Given the description of an element on the screen output the (x, y) to click on. 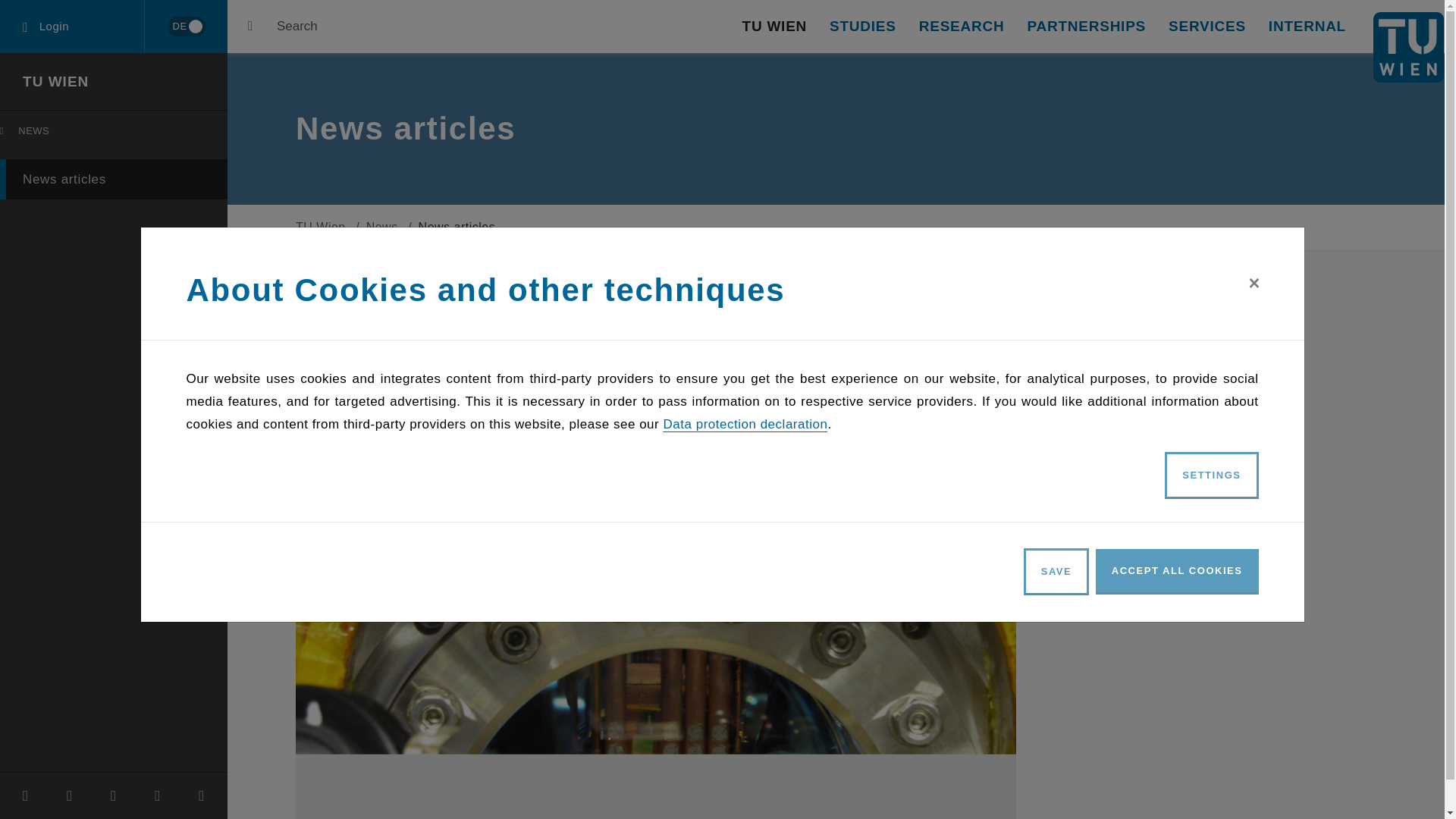
TU WIEN (55, 81)
STUDIES (862, 26)
TU Wien - homepage (117, 134)
News articles (1408, 47)
DE (113, 178)
Login (185, 26)
TU WIEN (72, 26)
Wechseln zu Deutsch (774, 26)
